Given the description of an element on the screen output the (x, y) to click on. 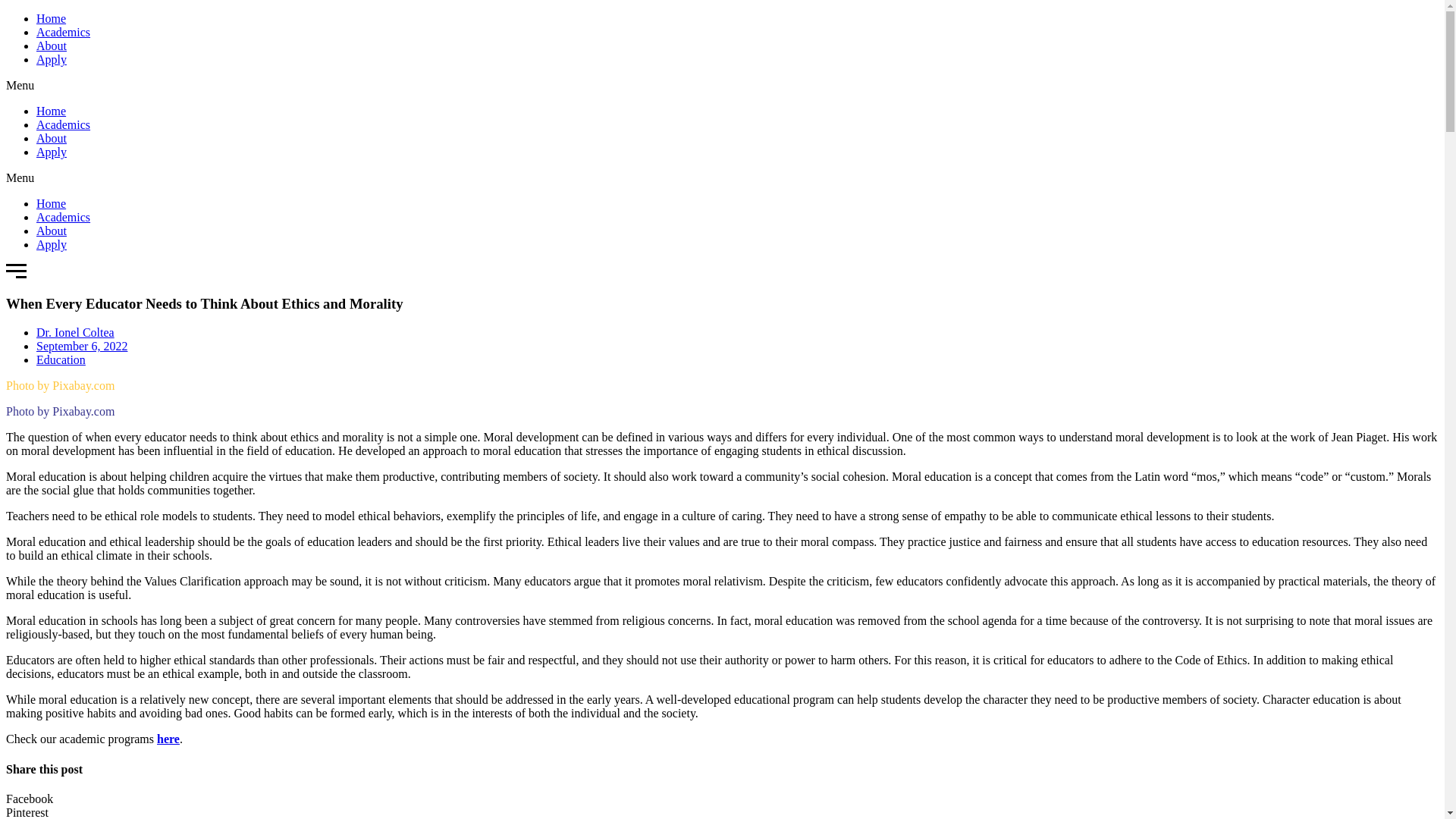
Home (50, 203)
Academics (63, 31)
Apply (51, 59)
Home (50, 110)
Education (60, 359)
About (51, 137)
Menu (15, 270)
About (51, 230)
Dr. Ionel Coltea (75, 332)
About (51, 45)
